Given the description of an element on the screen output the (x, y) to click on. 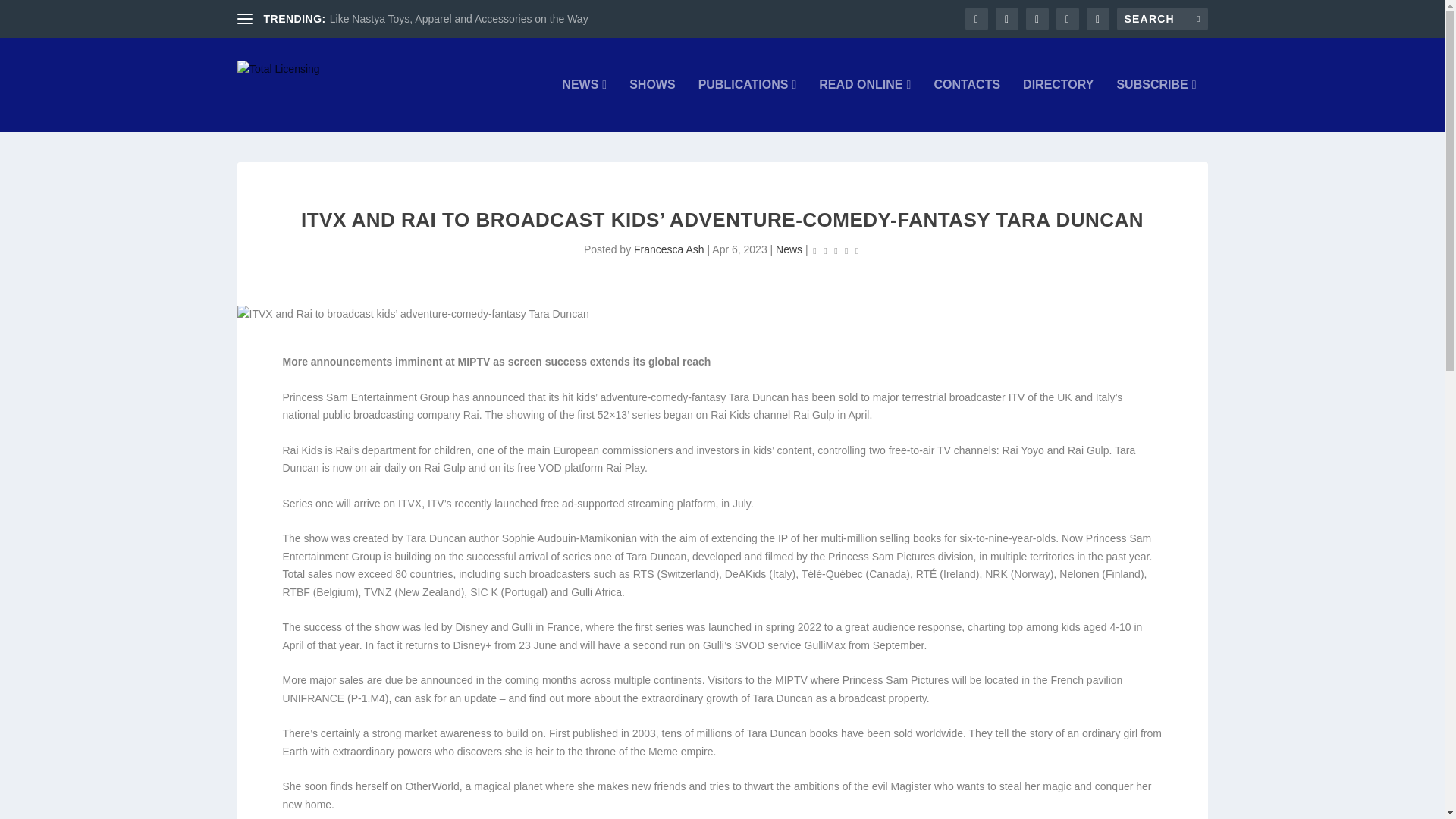
Like Nastya Toys, Apparel and Accessories on the Way (459, 19)
Search for: (1161, 18)
PUBLICATIONS (747, 104)
